Given the description of an element on the screen output the (x, y) to click on. 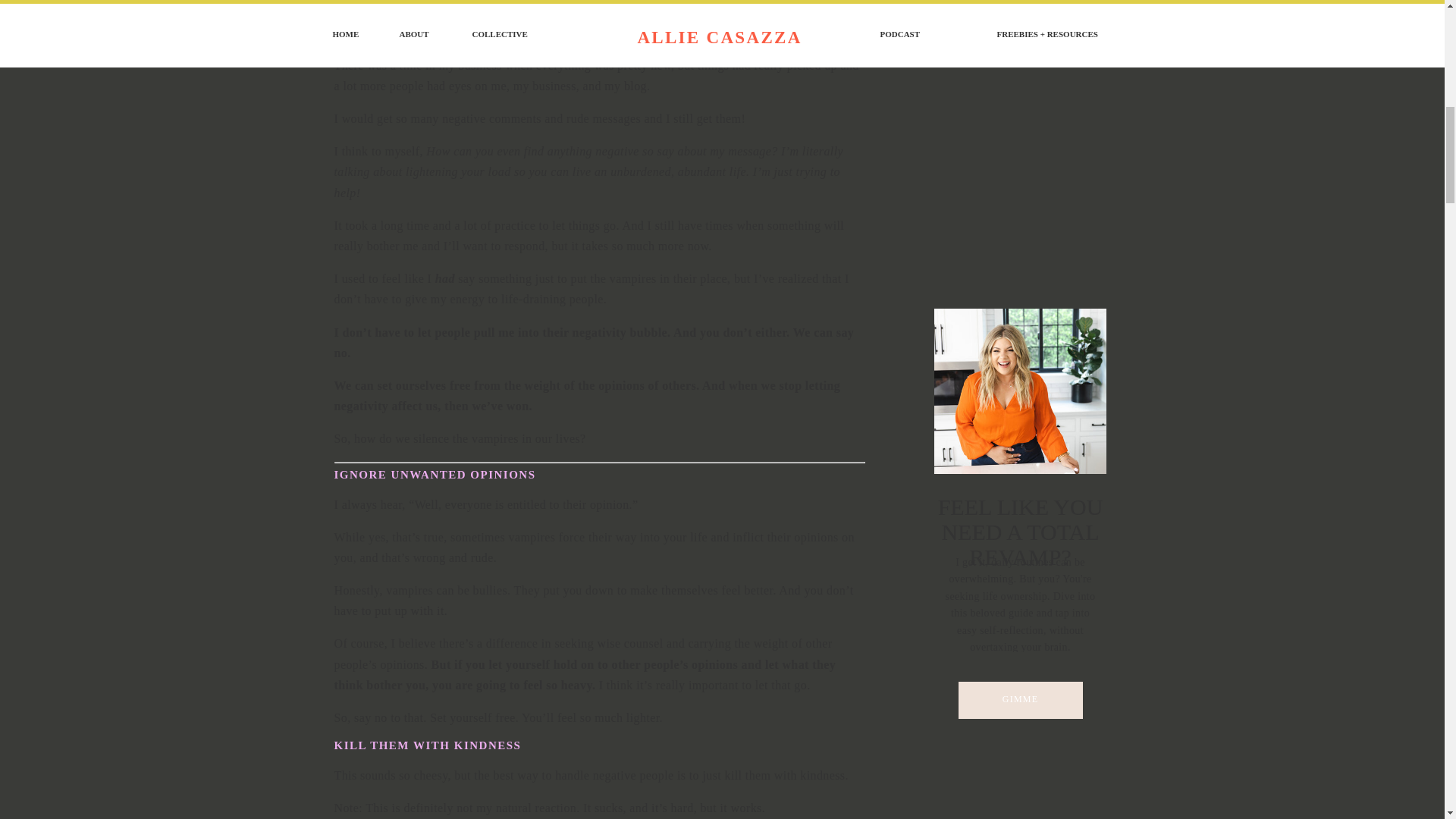
GIMME (1020, 702)
